Given the description of an element on the screen output the (x, y) to click on. 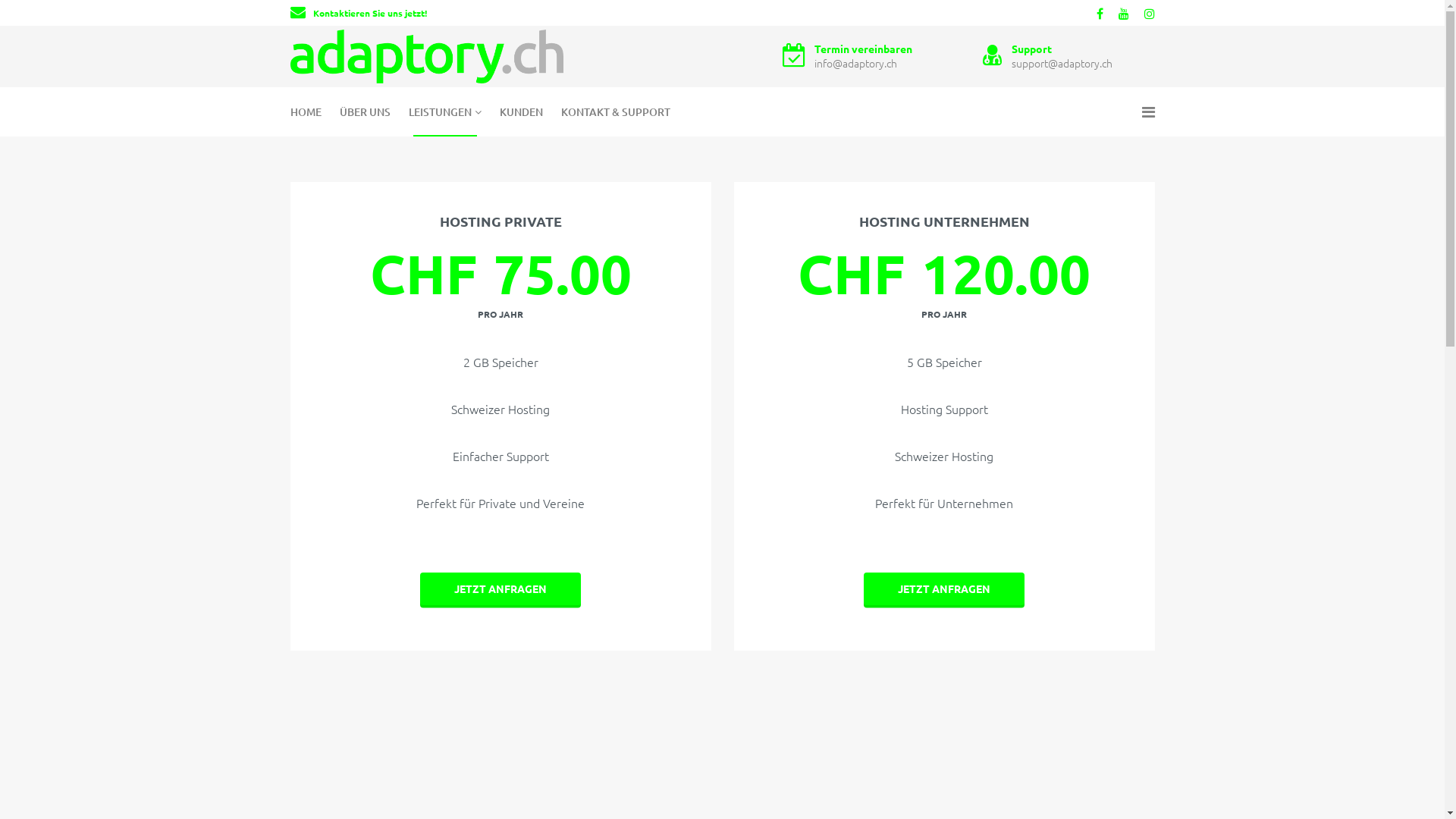
JETZT ANFRAGEN Element type: text (500, 588)
KONTAKT & SUPPORT Element type: text (615, 111)
info@adaptory.ch Element type: text (855, 62)
HOME Element type: text (309, 111)
LEISTUNGEN Element type: text (443, 111)
JETZT ANFRAGEN Element type: text (943, 588)
support@adaptory.ch Element type: text (1061, 62)
KUNDEN Element type: text (520, 111)
Kontaktieren Sie uns jetzt! Element type: text (369, 12)
